Given the description of an element on the screen output the (x, y) to click on. 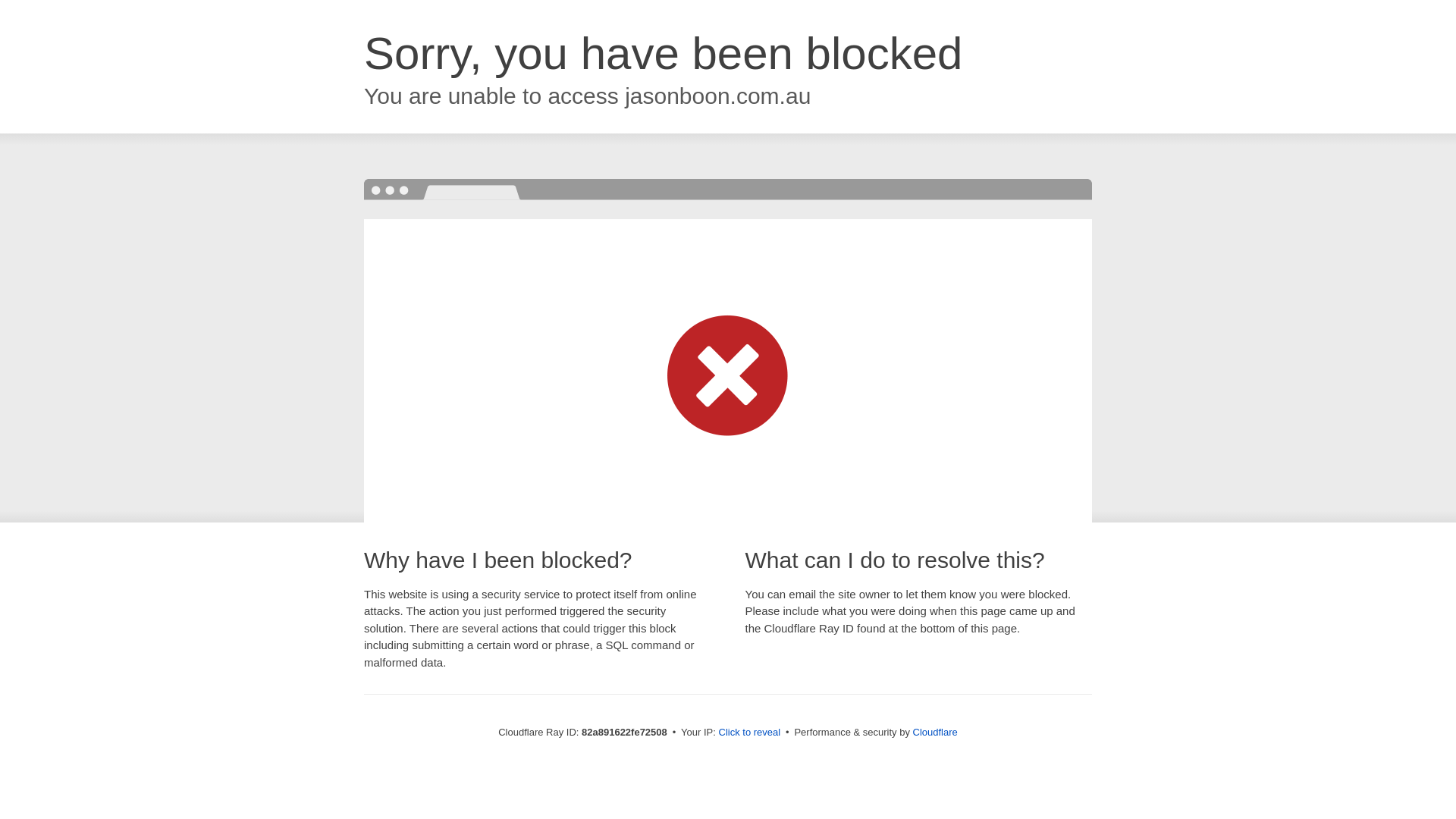
Cloudflare Element type: text (935, 731)
Click to reveal Element type: text (749, 732)
